Given the description of an element on the screen output the (x, y) to click on. 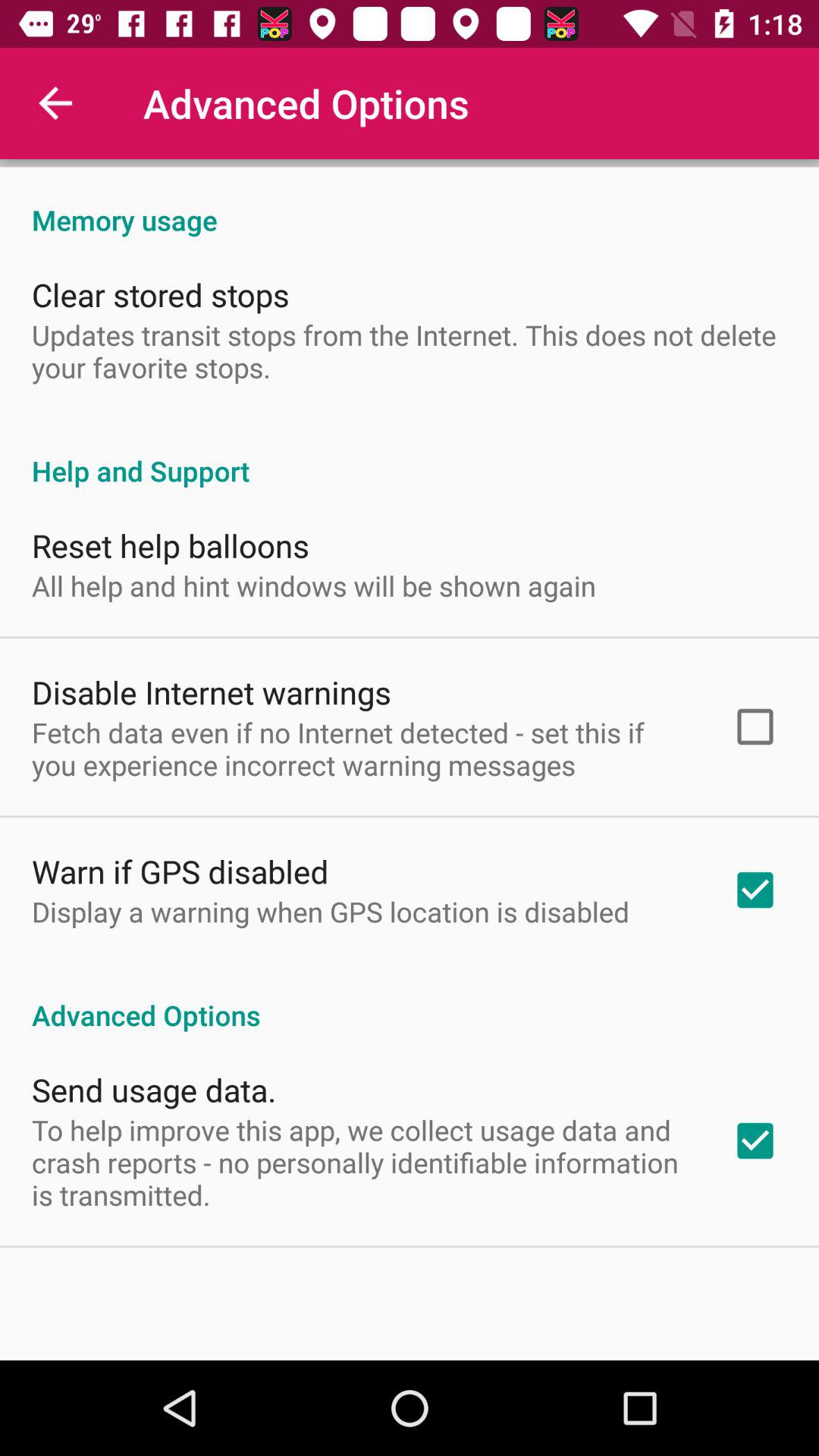
turn off icon to the left of the advanced options (55, 103)
